Given the description of an element on the screen output the (x, y) to click on. 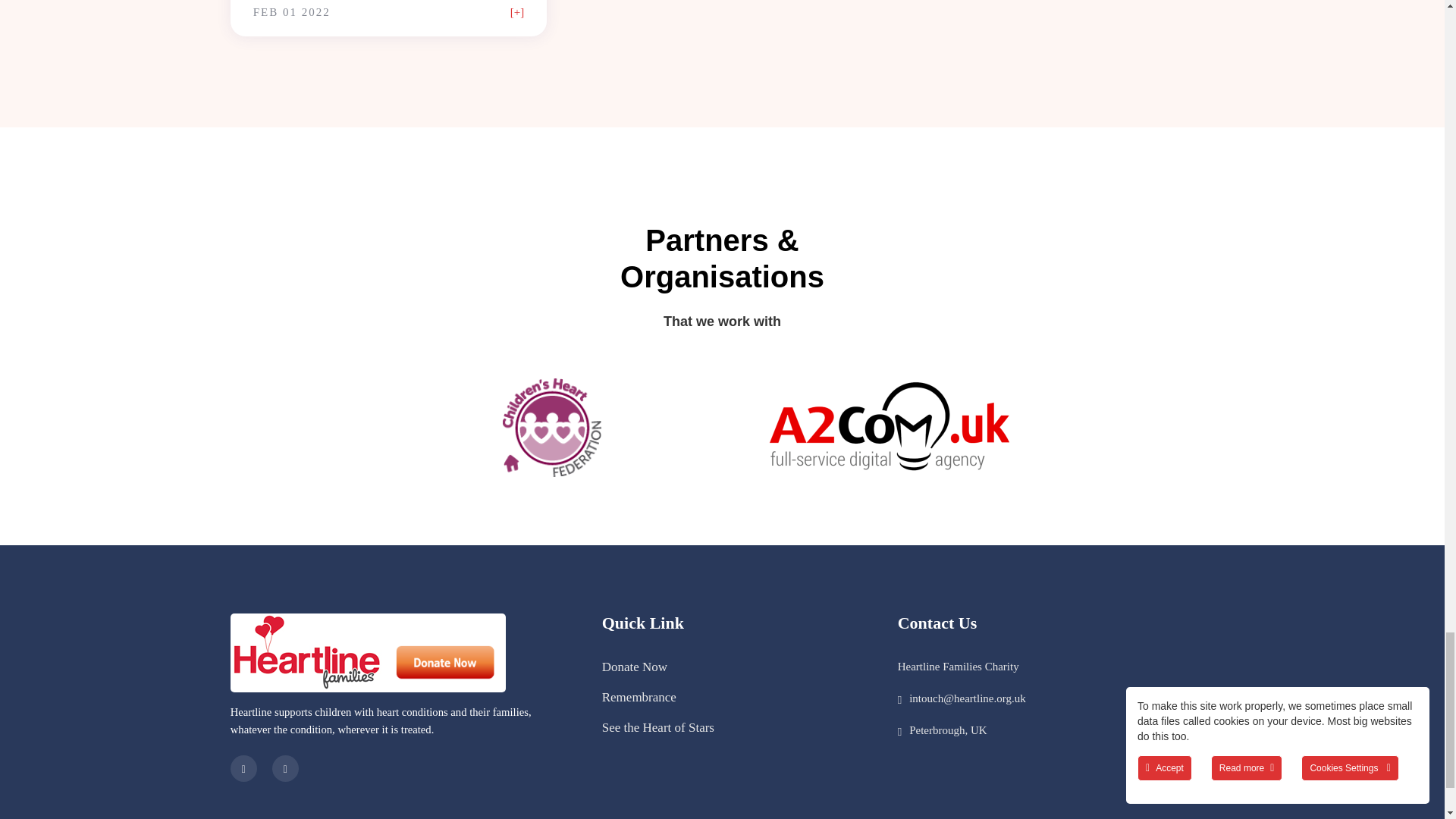
Remembrance (639, 697)
See the Heart of Stars (658, 727)
Donate Now (634, 667)
